Given the description of an element on the screen output the (x, y) to click on. 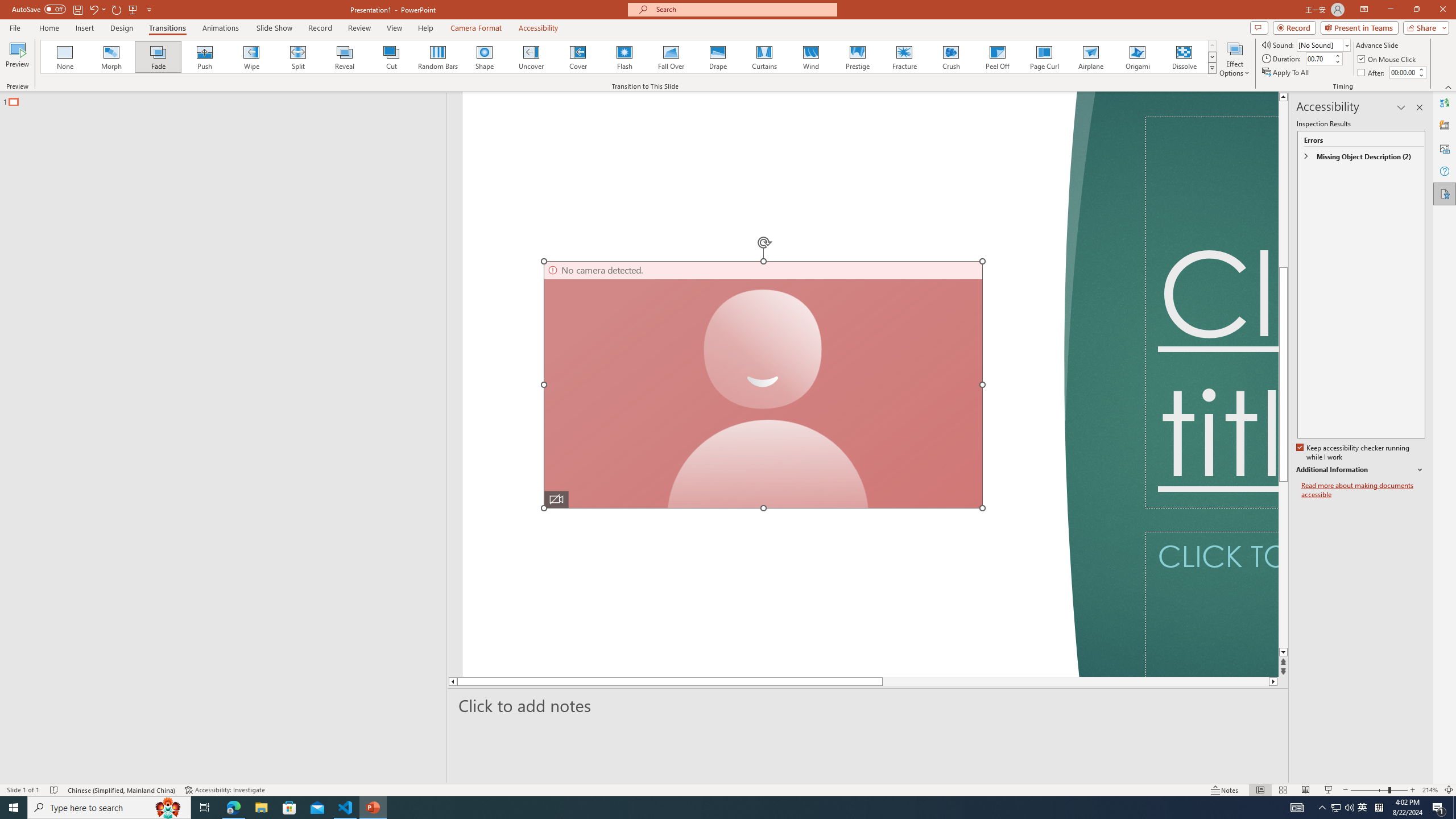
Alt Text (1444, 147)
Peel Off (997, 56)
Wind (810, 56)
Duration (1319, 58)
